Given the description of an element on the screen output the (x, y) to click on. 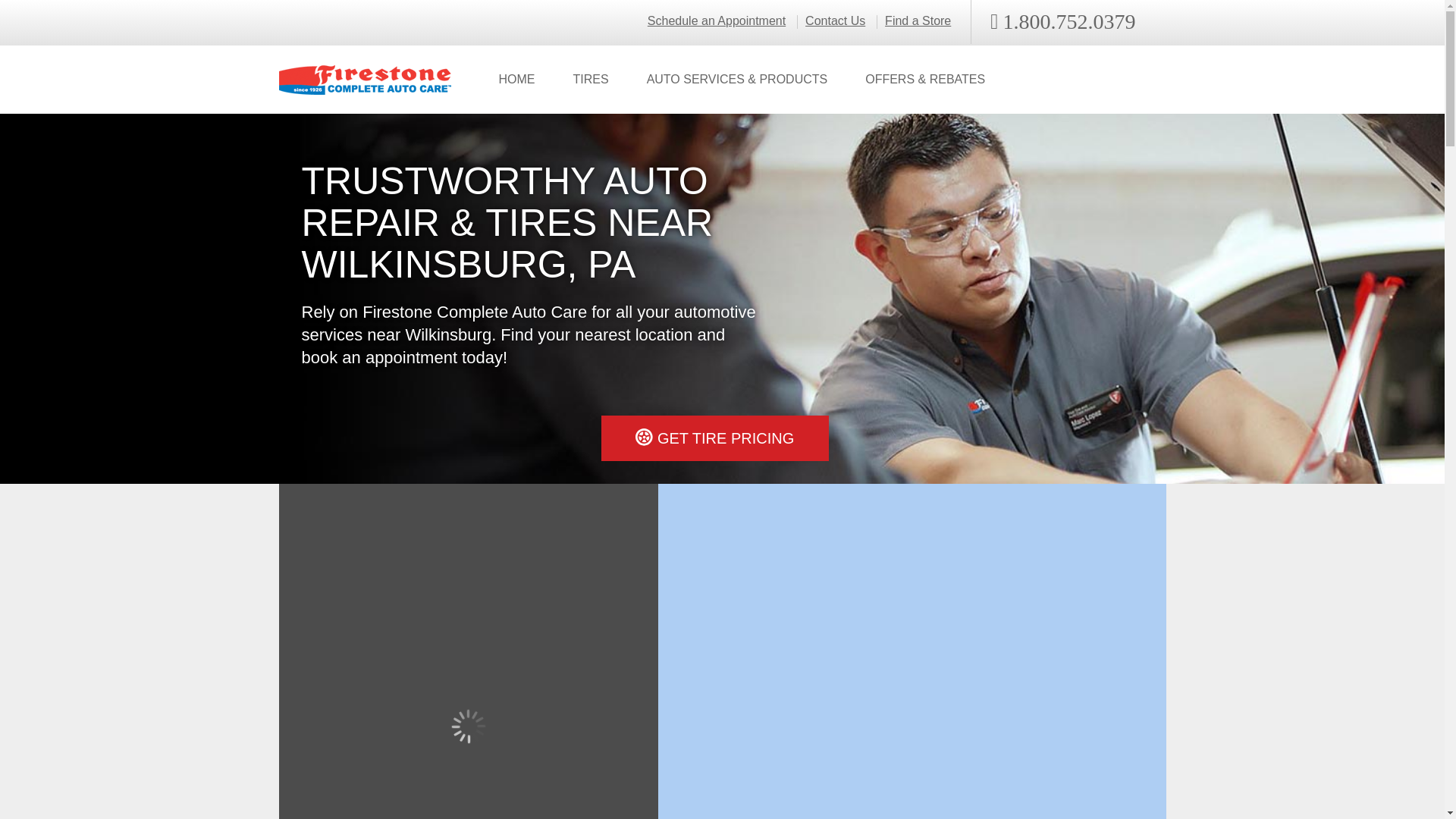
Schedule an Appointment (716, 20)
1.800.752.0379 (1062, 22)
Contact Us (834, 20)
GET TIRE PRICING (713, 438)
Firestone Complete Auto Care (365, 80)
Find a Store (918, 20)
HOME (516, 79)
TIRES (590, 79)
